Given the description of an element on the screen output the (x, y) to click on. 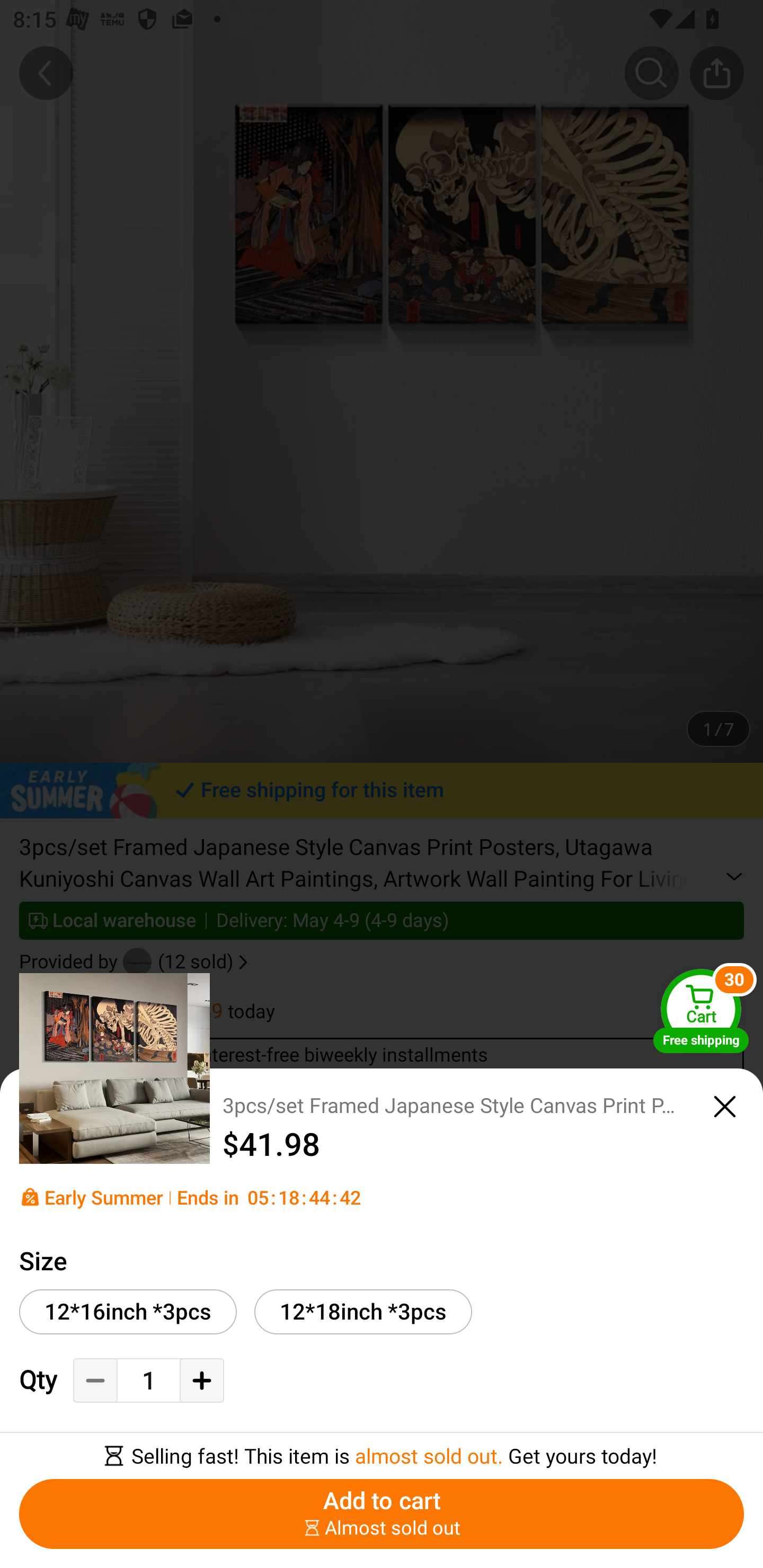
Cart Free shipping Cart (701, 1010)
close (724, 1106)
 12*16inch *3pcs (127, 1311)
 12*18inch *3pcs (363, 1311)
Decrease Quantity Button (95, 1380)
Add Quantity Button (201, 1380)
1 (148, 1381)
Add to cart ￼￼Almost sold out (381, 1513)
